Given the description of an element on the screen output the (x, y) to click on. 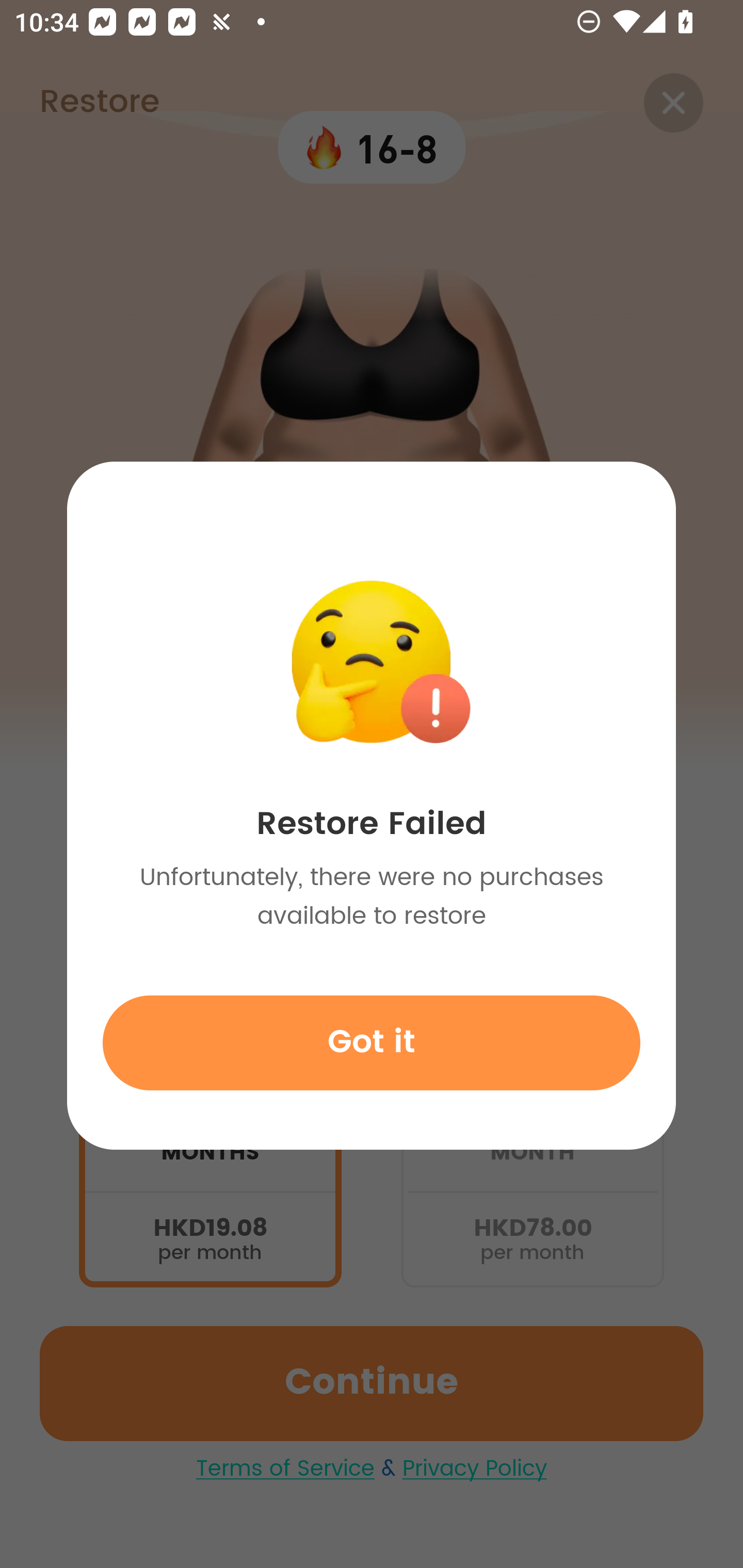
Got it (371, 1042)
